Given the description of an element on the screen output the (x, y) to click on. 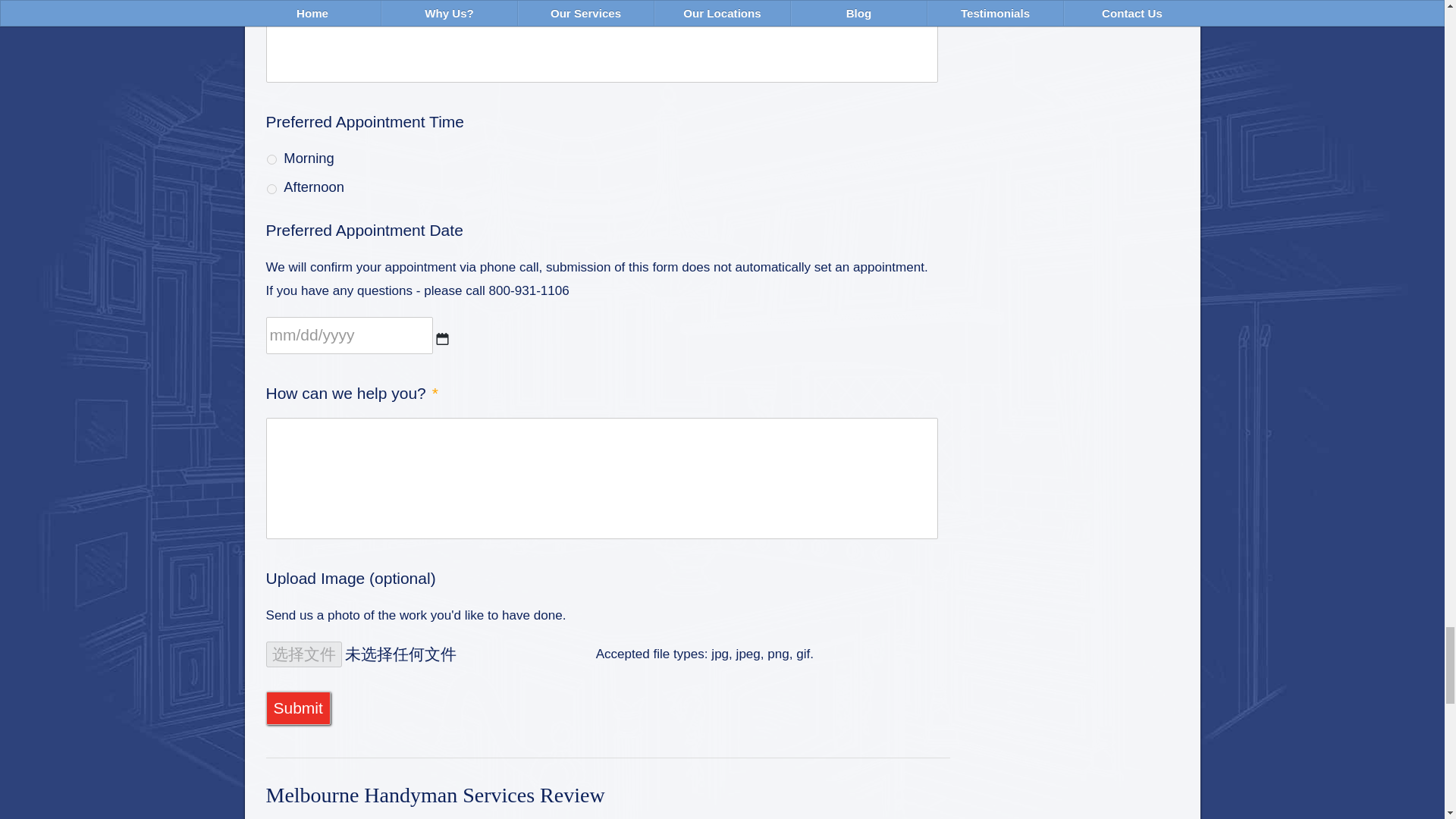
Submit (297, 708)
Afternoon (271, 189)
Morning (271, 159)
